Given the description of an element on the screen output the (x, y) to click on. 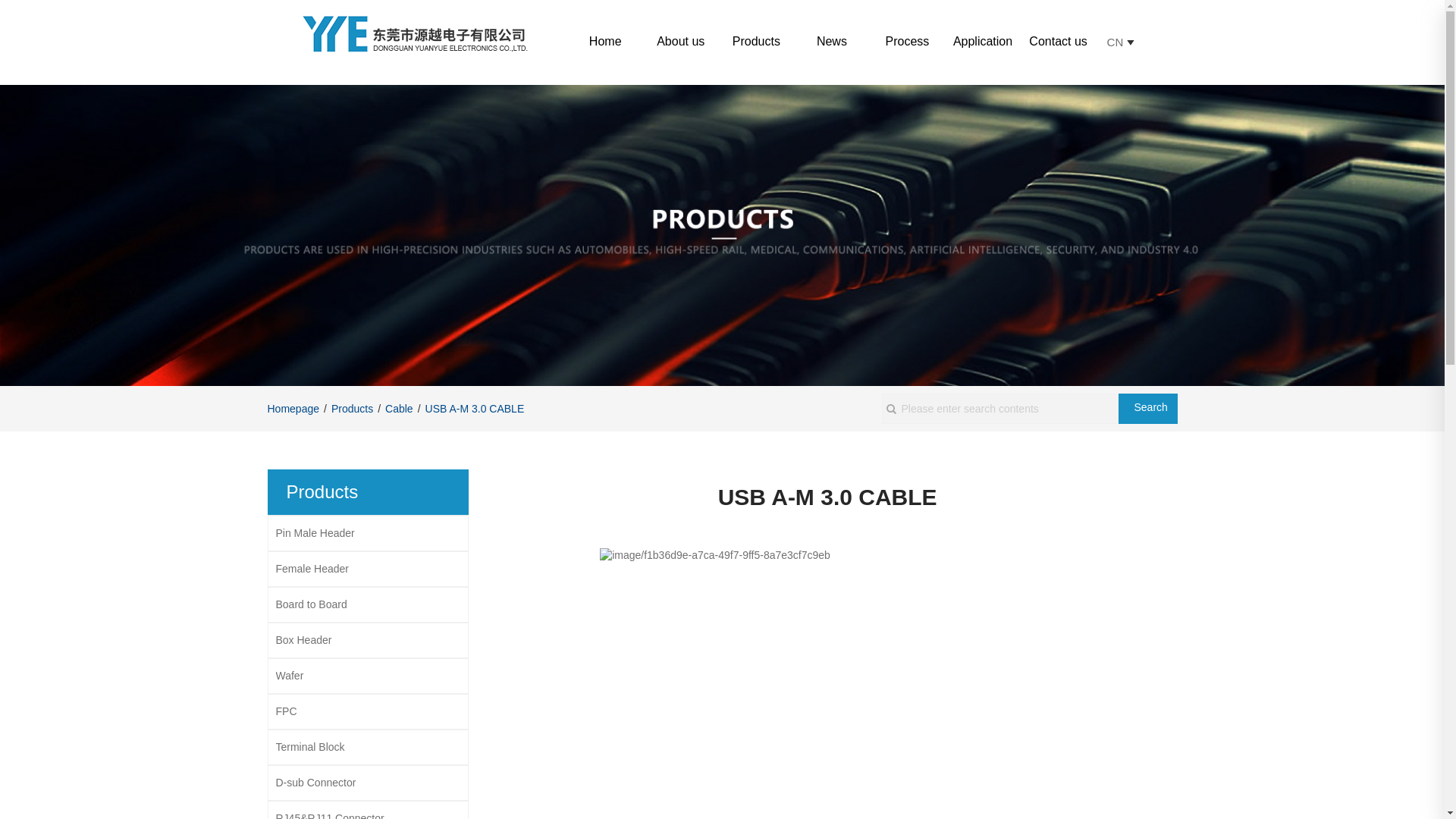
Home (605, 41)
News (831, 41)
Application (982, 41)
Dongguan Yuanyue Electronic Co., Ltd (414, 31)
Products (756, 41)
Process (906, 41)
Contact us (1058, 41)
About us (681, 41)
